Given the description of an element on the screen output the (x, y) to click on. 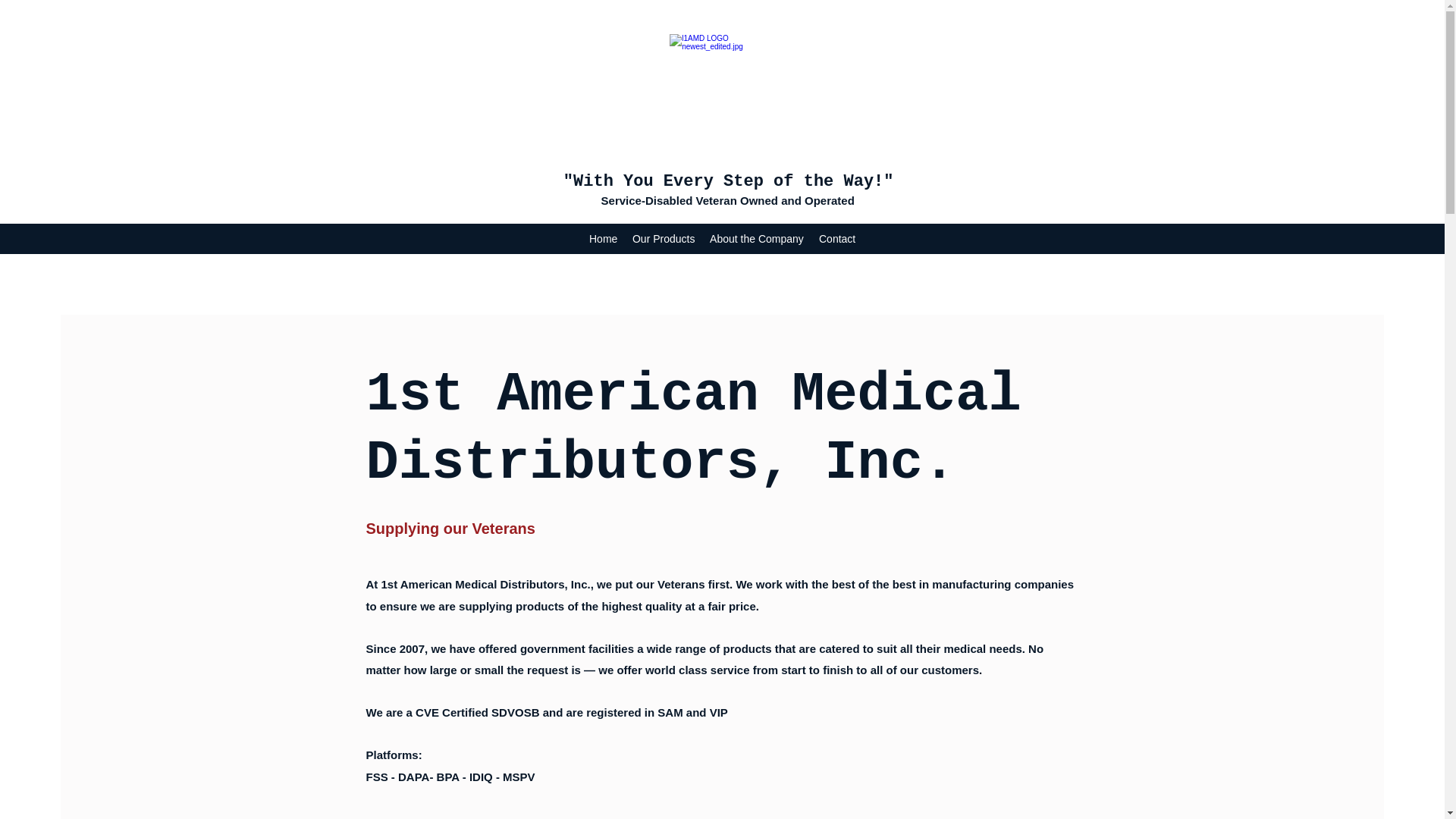
About the Company Element type: text (756, 238)
Our Products Element type: text (663, 238)
Contact Element type: text (836, 238)
Home Element type: text (602, 238)
